Given the description of an element on the screen output the (x, y) to click on. 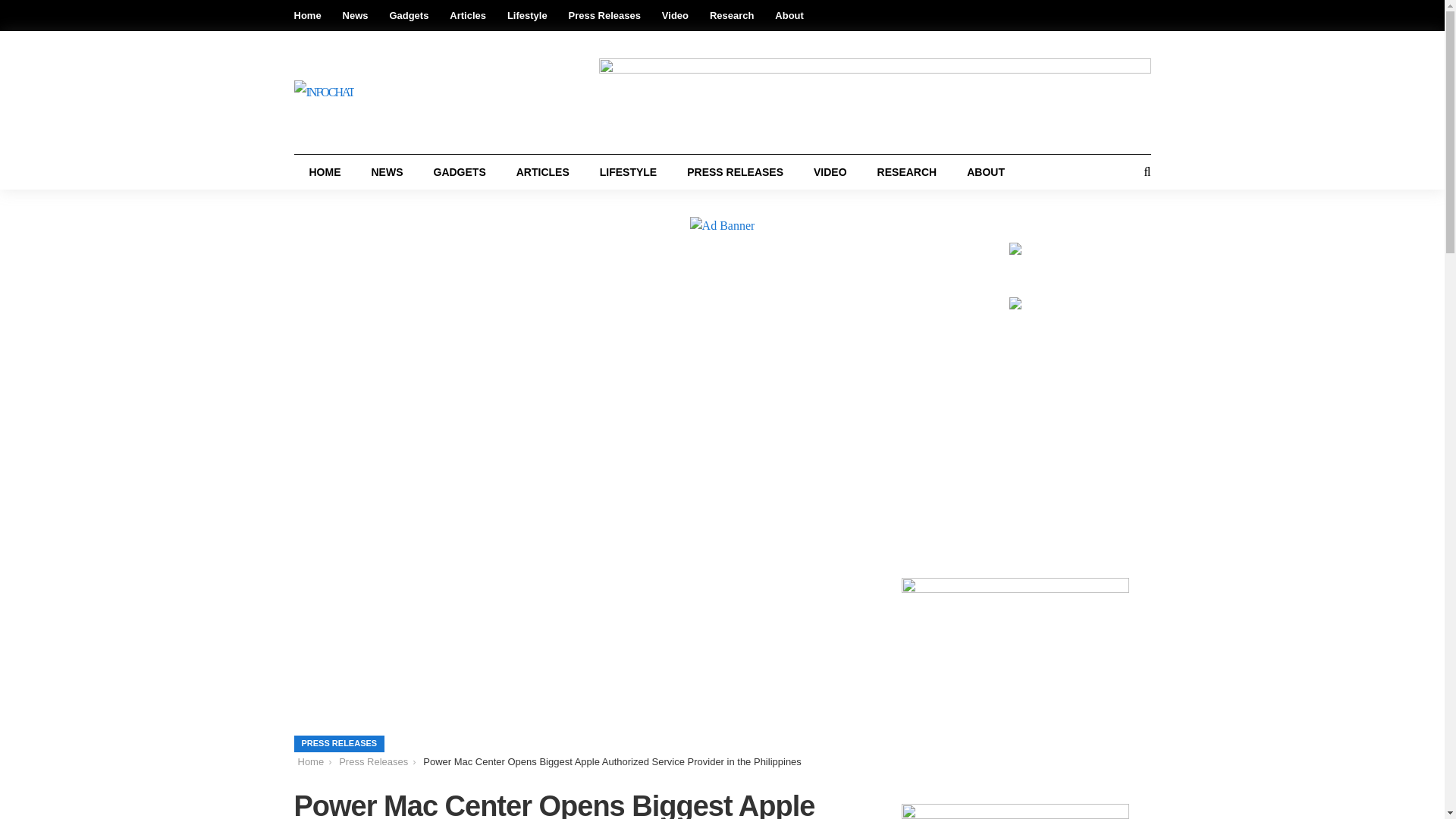
HOME (325, 171)
Gadgets (408, 15)
PRESS RELEASES (339, 743)
Lifestyle (526, 15)
RESEARCH (906, 171)
Articles (467, 15)
About (788, 15)
VIDEO (829, 171)
Research (732, 15)
PRESS RELEASES (734, 171)
LIFESTYLE (628, 171)
Press Releases (604, 15)
GADGETS (459, 171)
NEWS (387, 171)
ARTICLES (542, 171)
